Given the description of an element on the screen output the (x, y) to click on. 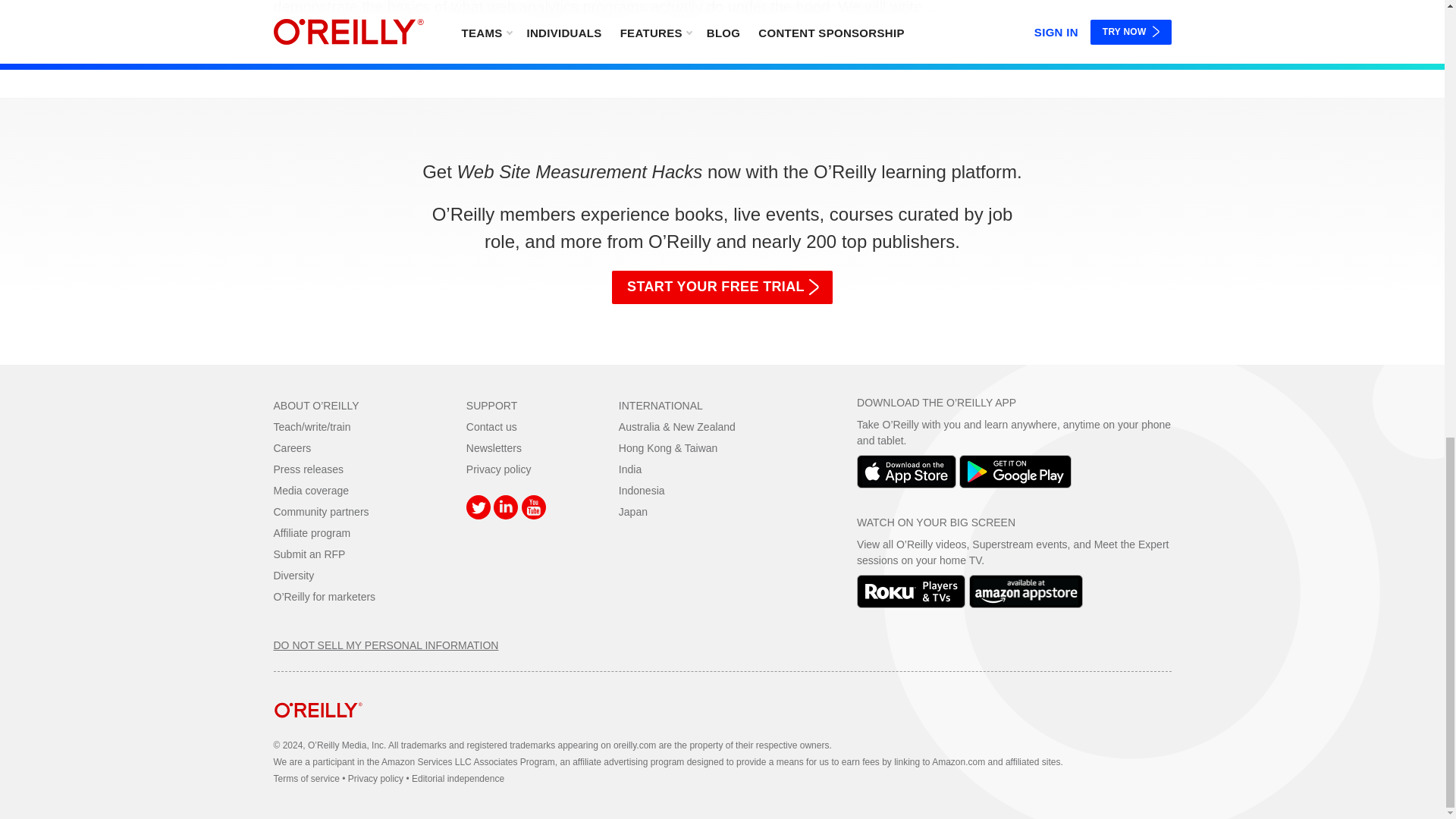
Diversity (293, 575)
Careers (292, 448)
START YOUR FREE TRIAL (721, 287)
Media coverage (311, 490)
Community partners (320, 511)
home page (317, 728)
Affiliate program (311, 532)
Press releases (308, 469)
Submit an RFP (309, 553)
Build Your Own Web Measurement Application: The Core Code (721, 9)
